Given the description of an element on the screen output the (x, y) to click on. 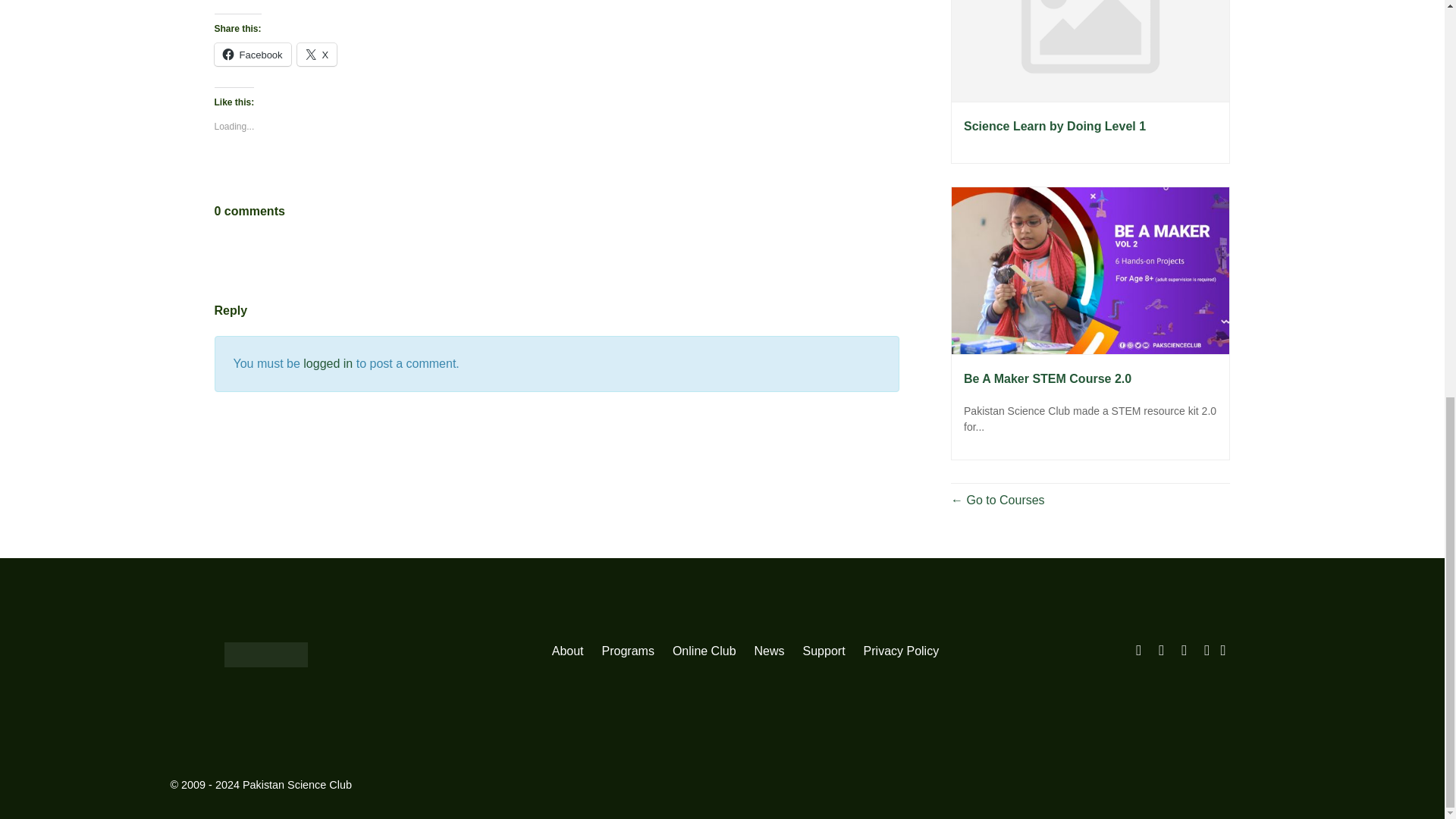
Click to share on X (317, 54)
About (567, 650)
Support (824, 650)
Click to share on Facebook (251, 54)
Programs (627, 650)
Be A Maker STEM Course 2.0 (1090, 270)
News (769, 650)
Online Club (704, 650)
